Given the description of an element on the screen output the (x, y) to click on. 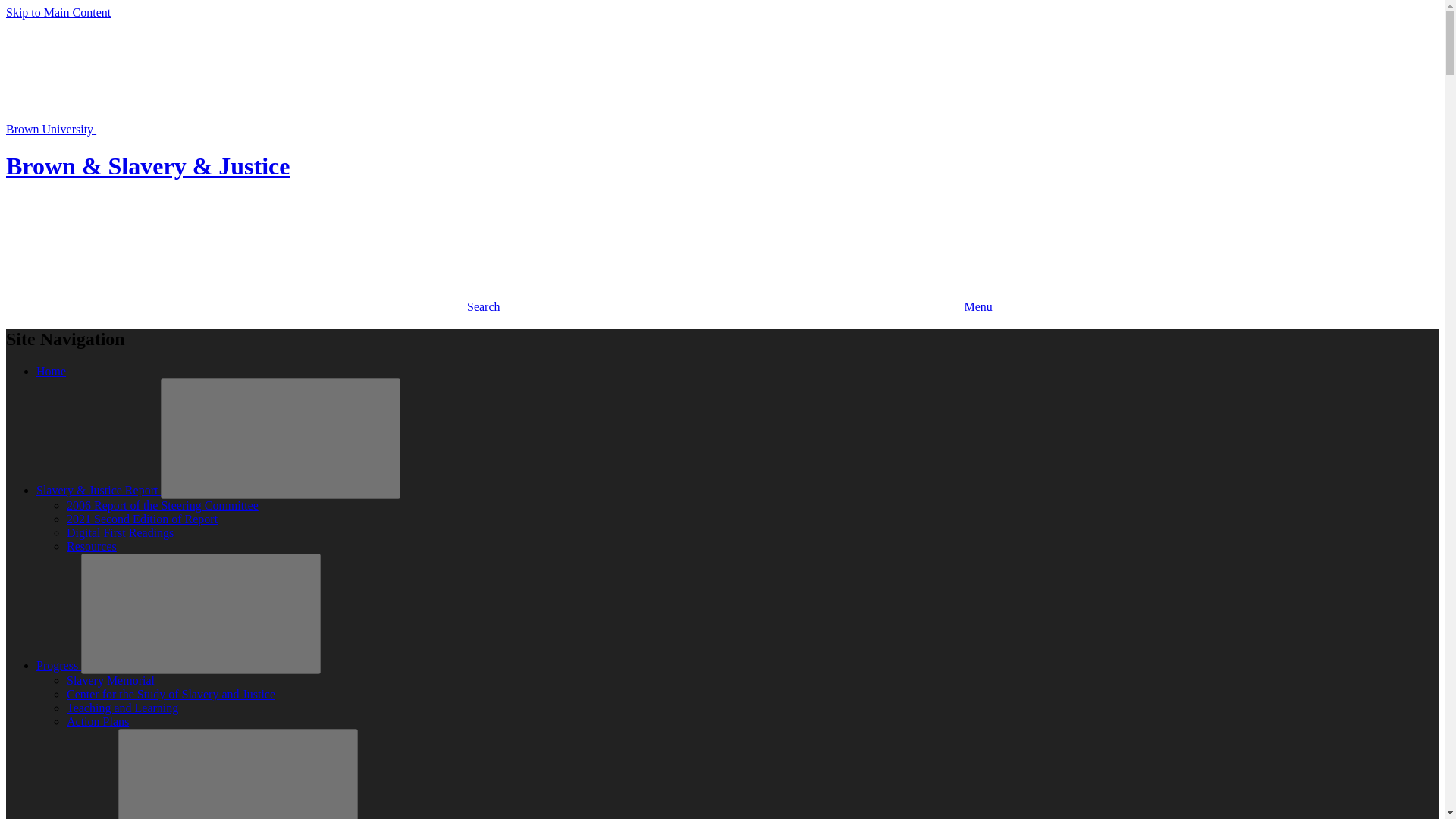
2006 Report of the Steering Committee (162, 504)
2021 Second Edition of Report (141, 518)
Search (254, 306)
Action Plans (97, 721)
Brown University (164, 128)
Progress (58, 665)
Digital First Readings (119, 532)
Skip to Main Content (57, 11)
Menu (747, 306)
Teaching and Learning (121, 707)
Slavery Memorial (110, 680)
Home (50, 370)
Resources (91, 545)
Center for the Study of Slavery and Justice (170, 694)
